Given the description of an element on the screen output the (x, y) to click on. 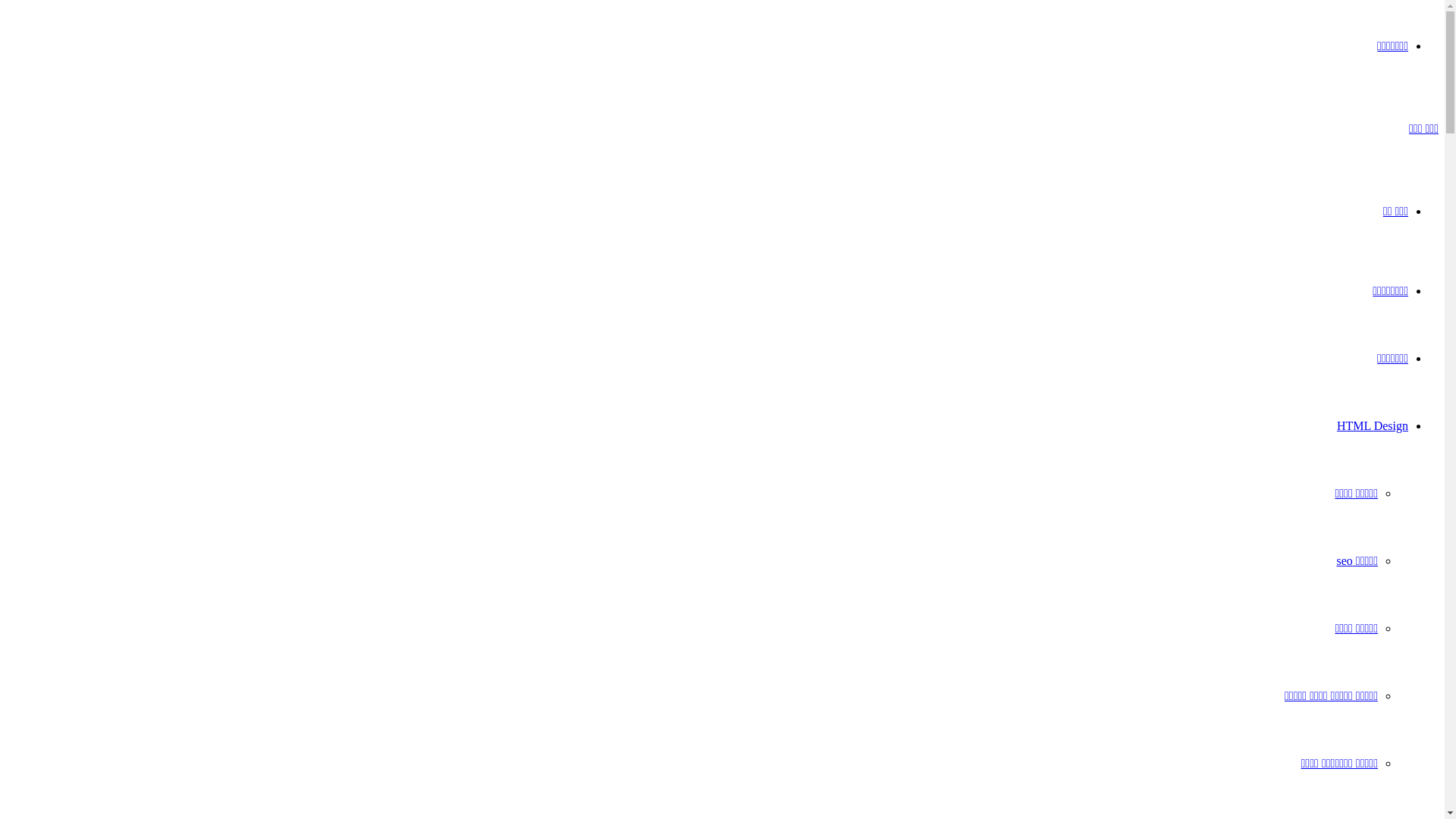
HTML Design Element type: text (1372, 425)
